Given the description of an element on the screen output the (x, y) to click on. 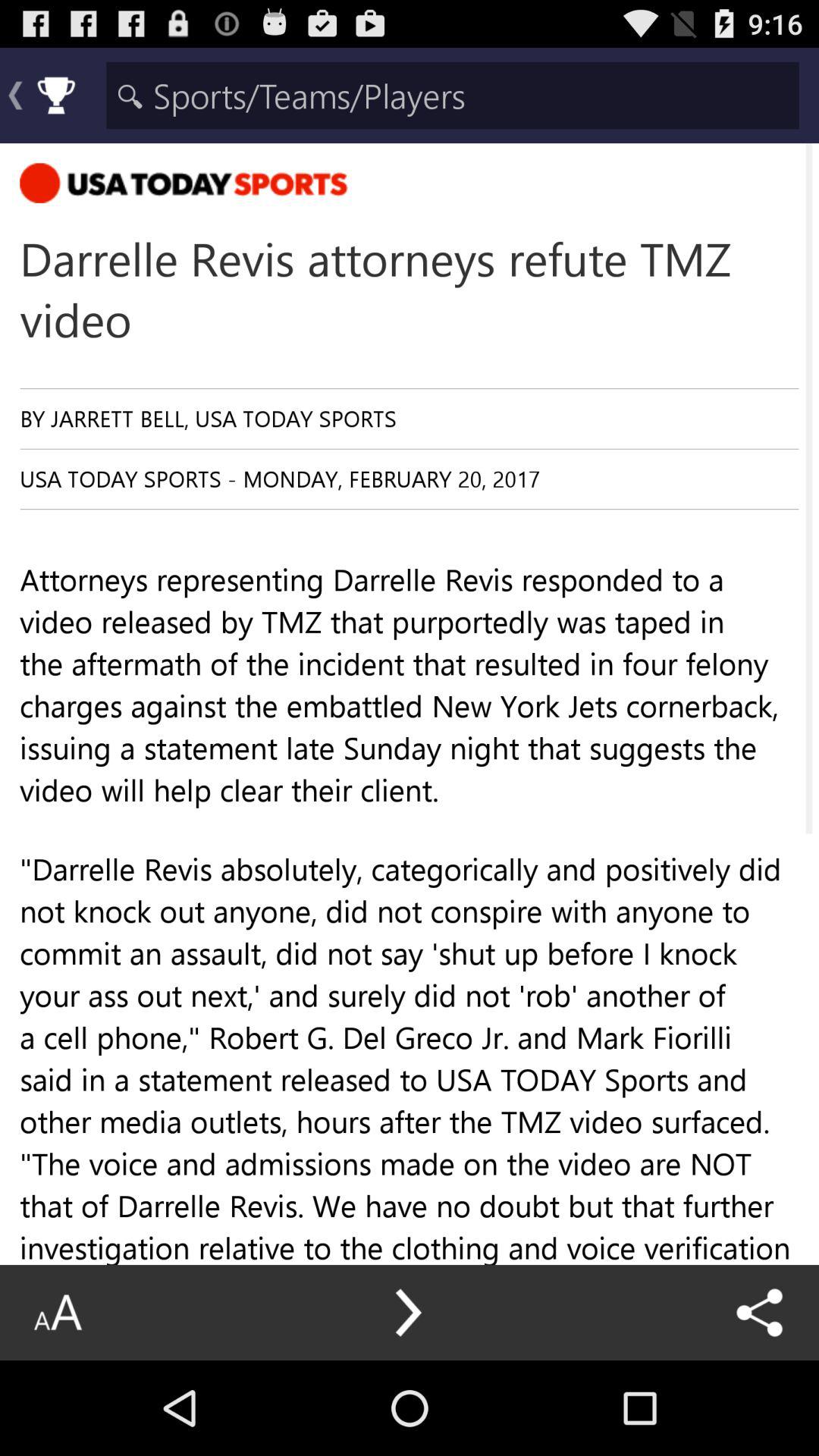
press icon below attorneys representing darrelle item (58, 1312)
